Given the description of an element on the screen output the (x, y) to click on. 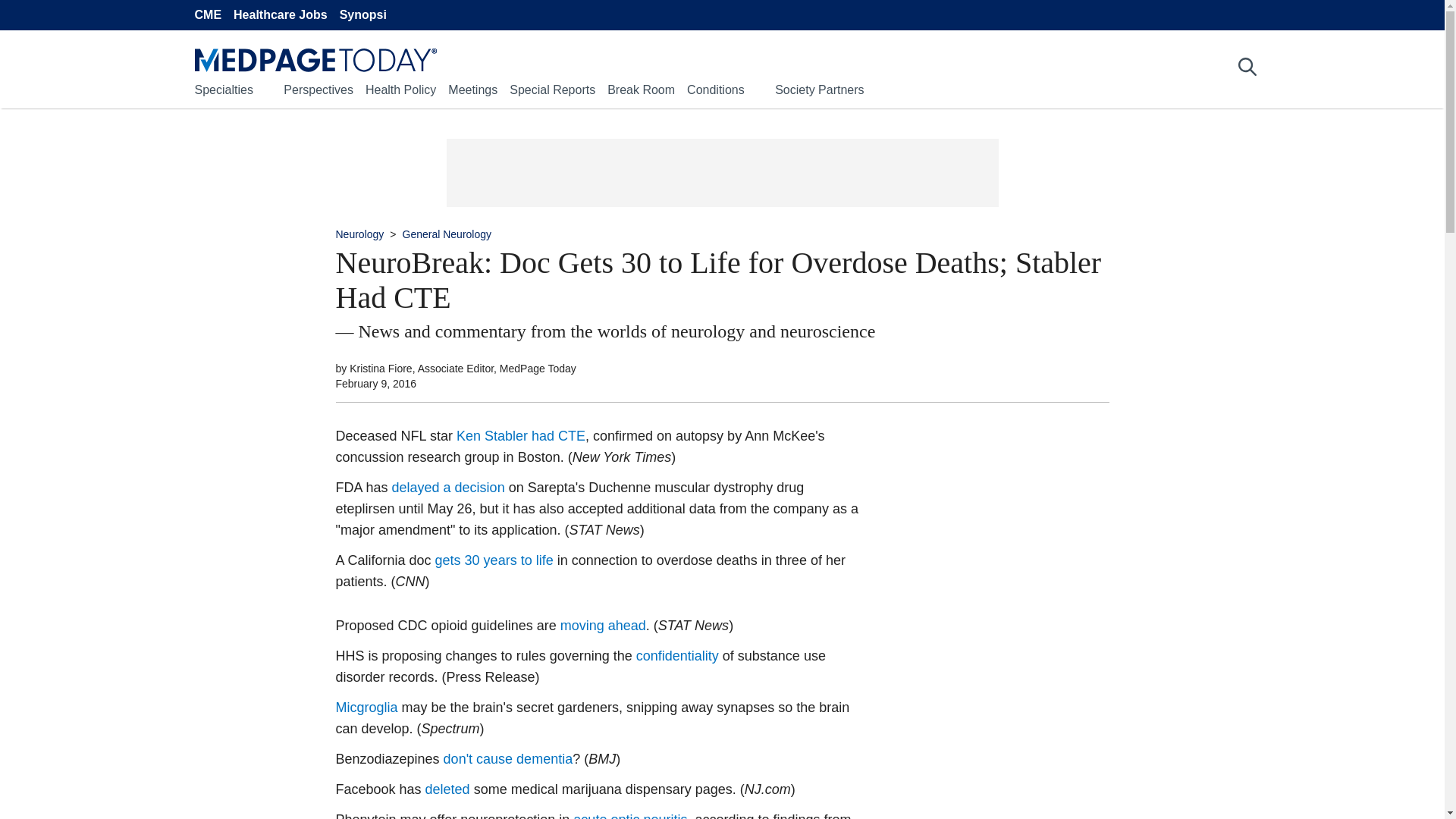
Specialties (222, 89)
Opens in a new tab or window (447, 789)
Opens in a new tab or window (508, 758)
Opens in a new tab or window (494, 560)
CME (207, 15)
Opens in a new tab or window (365, 707)
Opens in a new tab or window (677, 655)
Synopsi (363, 15)
Opens in a new tab or window (448, 487)
Opens in a new tab or window (521, 435)
